Given the description of an element on the screen output the (x, y) to click on. 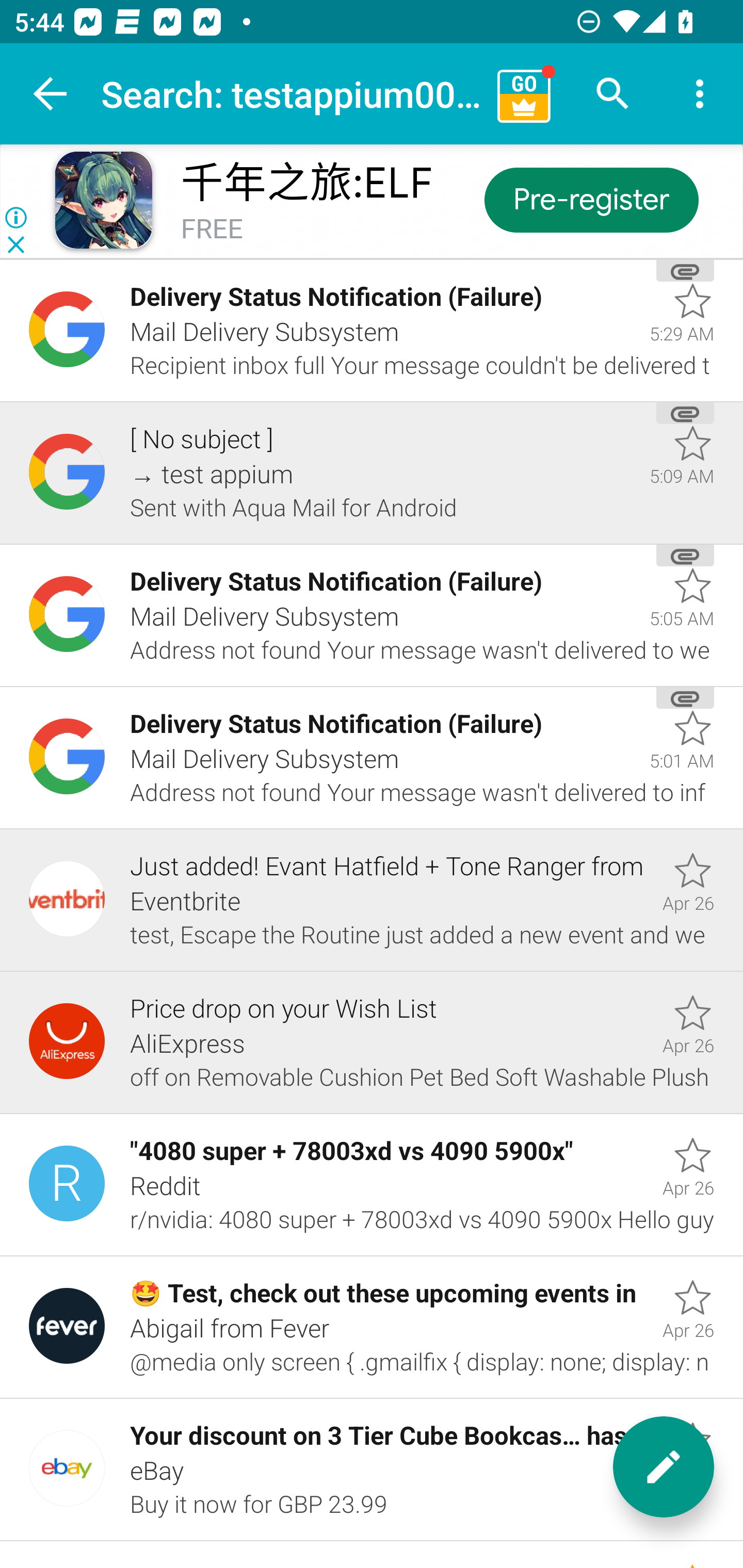
Navigate up (50, 93)
Search (612, 93)
More options (699, 93)
New message (663, 1466)
